Given the description of an element on the screen output the (x, y) to click on. 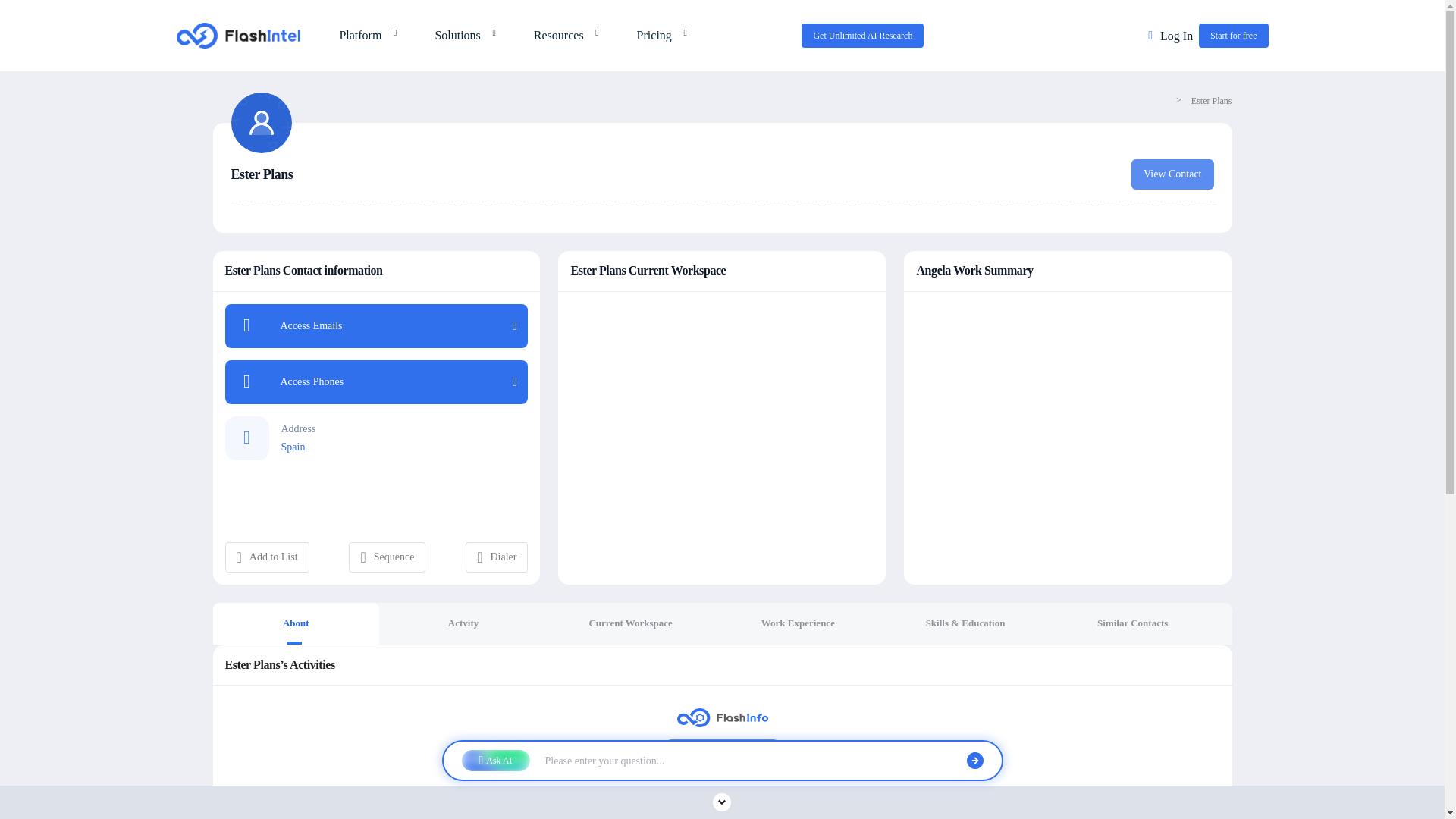
Solutions (461, 34)
Platform (363, 34)
